Given the description of an element on the screen output the (x, y) to click on. 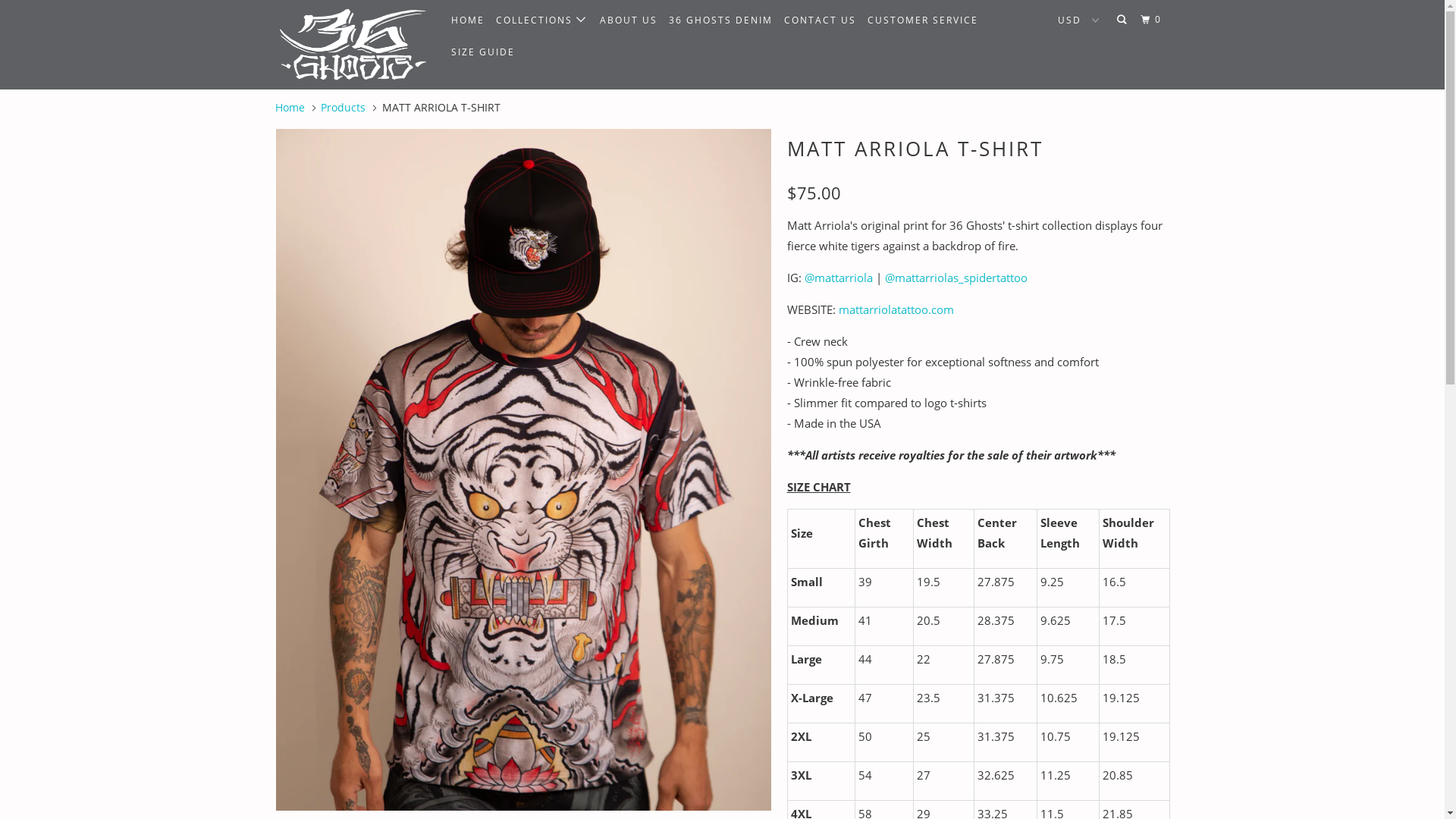
SIZE GUIDE Element type: text (482, 52)
ABOUT US Element type: text (628, 20)
CONTACT US Element type: text (820, 20)
36 Ghosts Element type: hover (351, 44)
36 GHOSTS DENIM Element type: text (720, 20)
Search Element type: hover (1122, 19)
@mattarriolas_spidertattoo Element type: text (955, 277)
HOME Element type: text (466, 20)
mattarriolatattoo.com Element type: text (895, 308)
CUSTOMER SERVICE Element type: text (922, 20)
MATT ARRIOLA T-SHIRT Element type: hover (522, 469)
Home Element type: text (289, 107)
0 Element type: text (1152, 19)
@mattarriola Element type: text (837, 277)
Products Element type: text (342, 107)
COLLECTIONS Element type: text (541, 19)
